Given the description of an element on the screen output the (x, y) to click on. 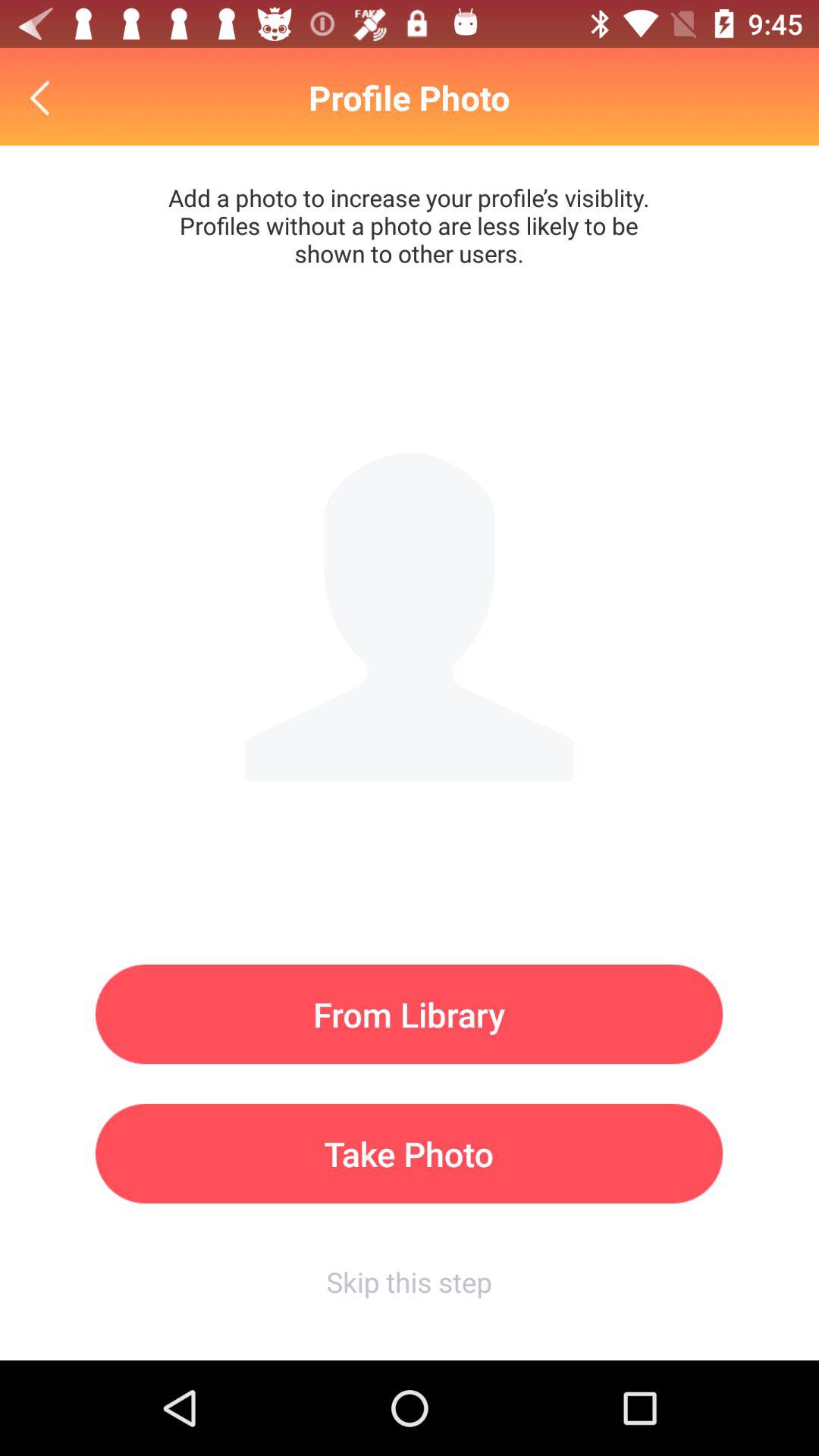
scroll to the skip this step icon (408, 1281)
